Given the description of an element on the screen output the (x, y) to click on. 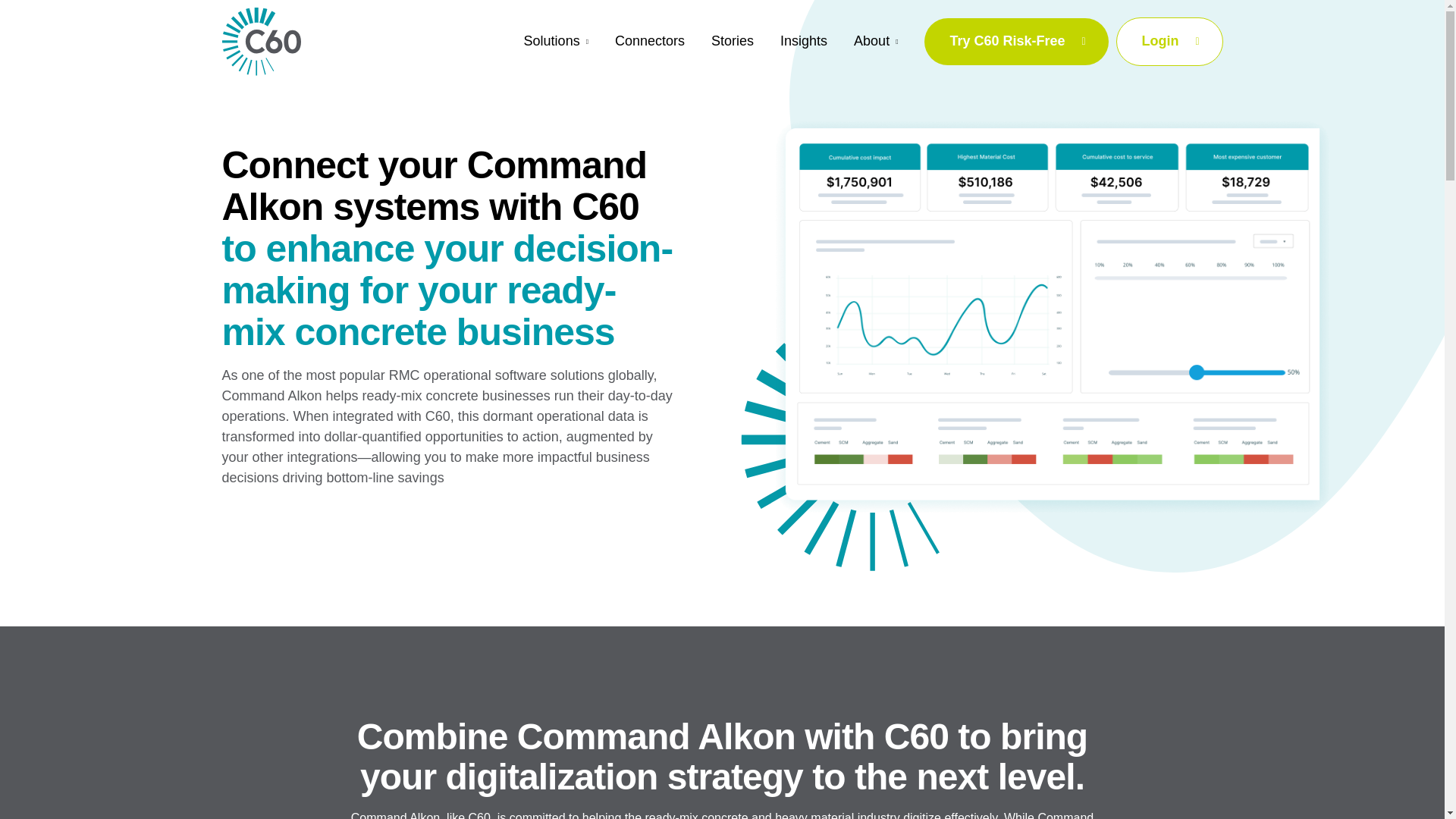
Login (1169, 41)
Try C60 Risk-Free (1016, 42)
About (875, 41)
Solutions (556, 41)
Insights (803, 41)
Connectors (649, 41)
Stories (732, 41)
